Given the description of an element on the screen output the (x, y) to click on. 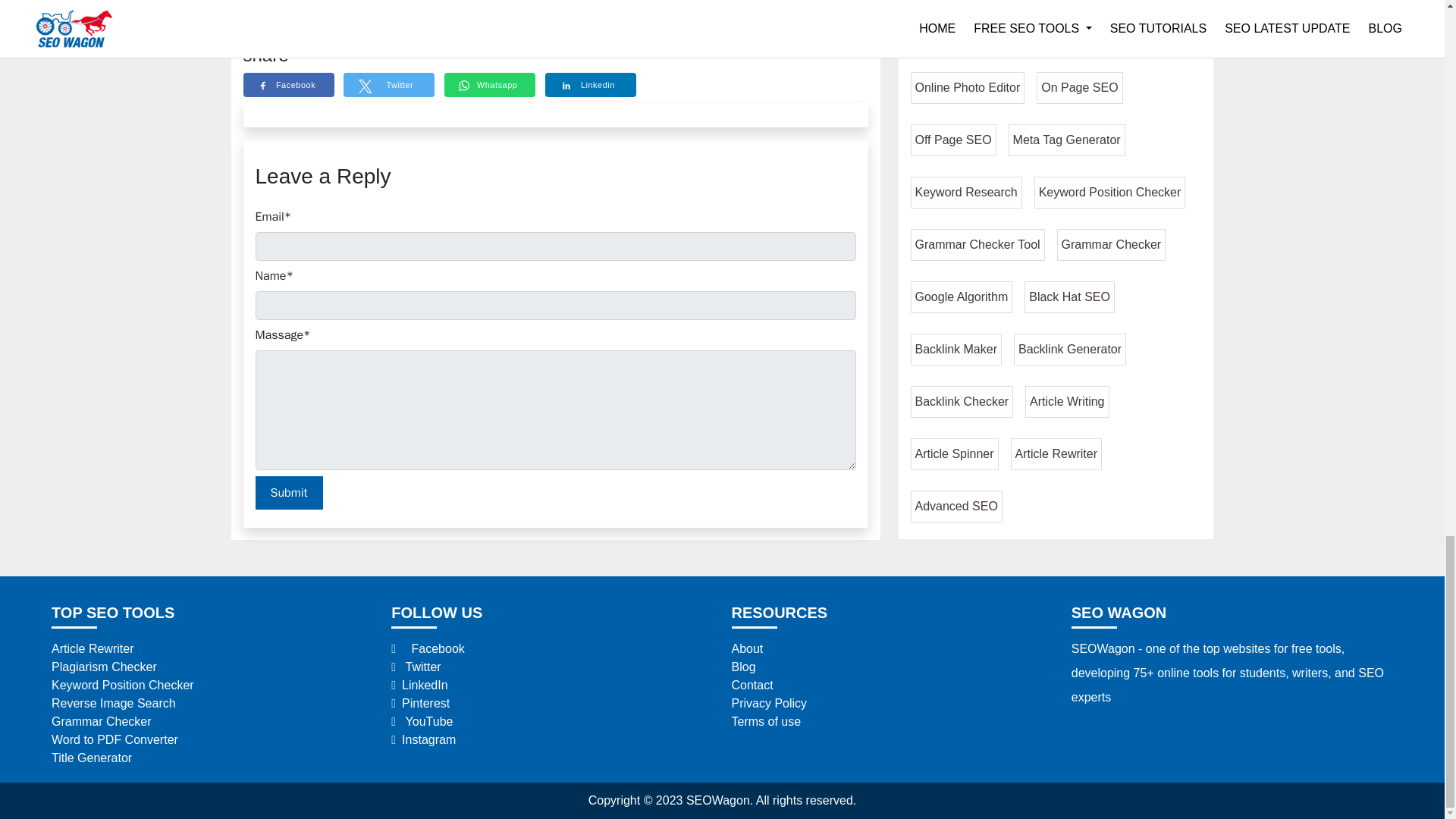
Twitter (392, 84)
Submit (287, 492)
Facebook (291, 84)
Whatsapp (492, 84)
Linkedin (593, 84)
writing (613, 32)
